Given the description of an element on the screen output the (x, y) to click on. 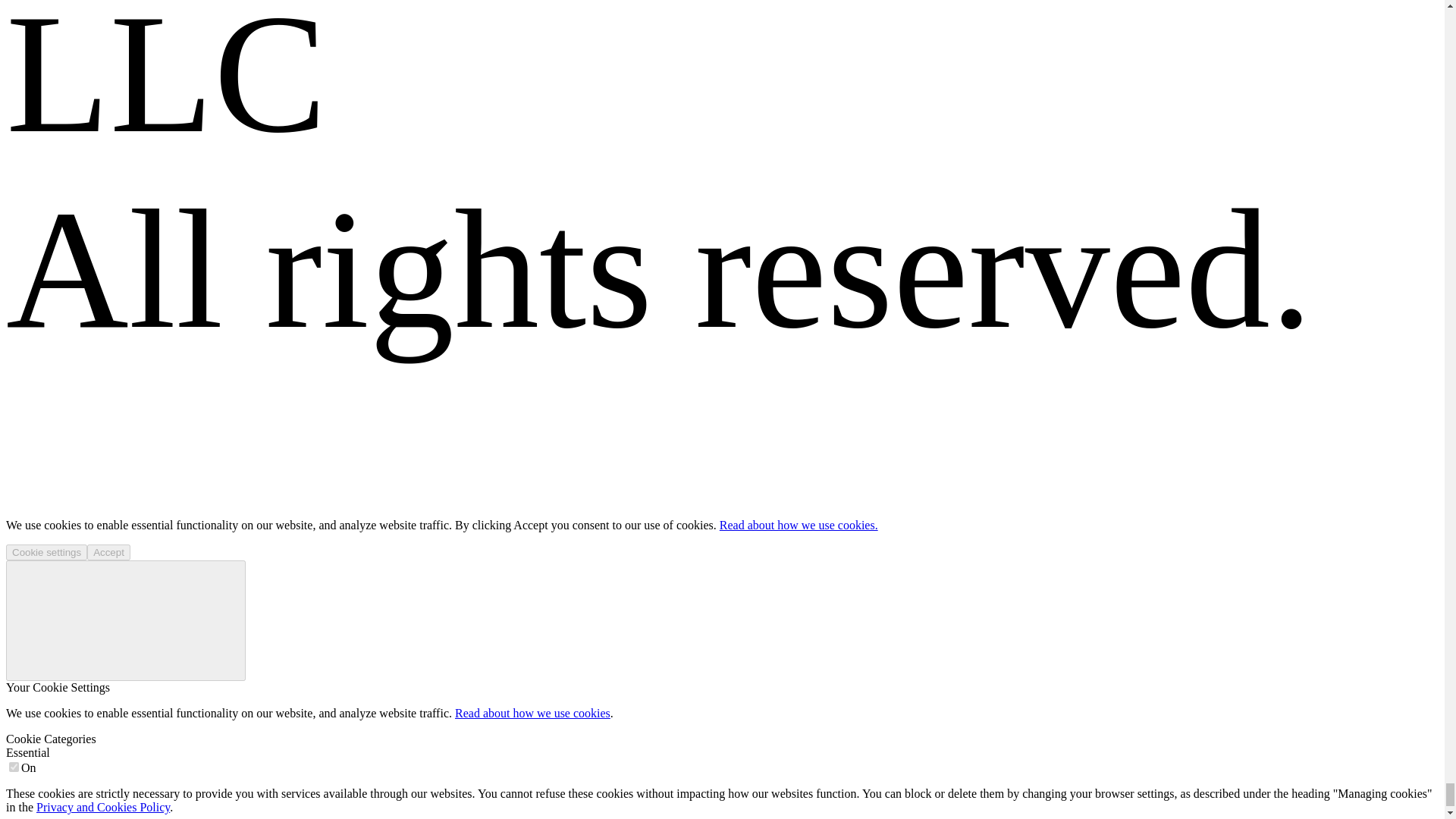
Read about how we use cookies. (798, 524)
Privacy and Cookies Policy (103, 807)
Accept (109, 552)
Read about how we use cookies (532, 712)
Cookie settings (46, 552)
on (13, 767)
